Given the description of an element on the screen output the (x, y) to click on. 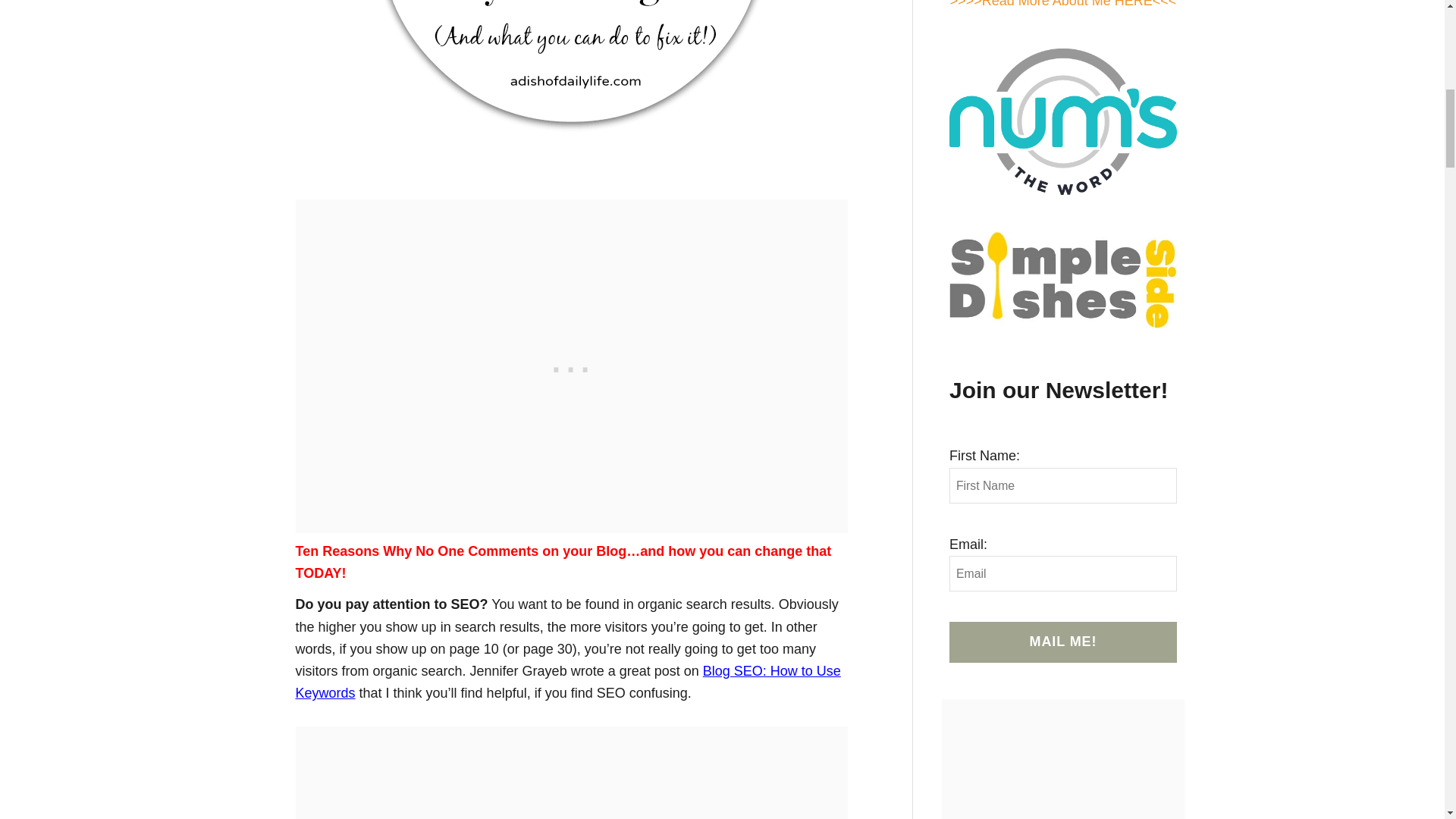
Blog SEO: How to Use Keywords (568, 682)
MAIL ME! (1062, 641)
